Given the description of an element on the screen output the (x, y) to click on. 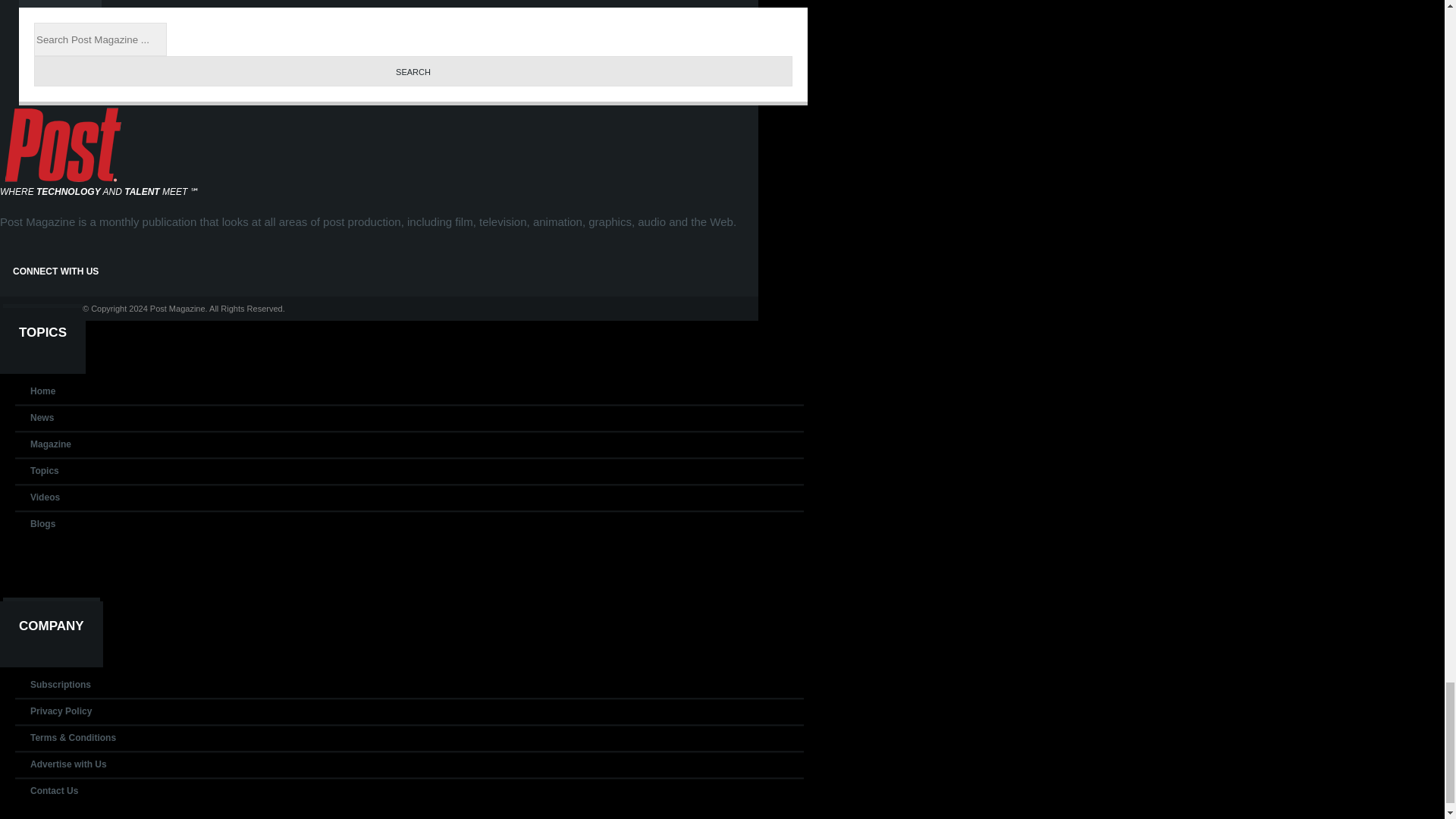
Search (412, 71)
